Given the description of an element on the screen output the (x, y) to click on. 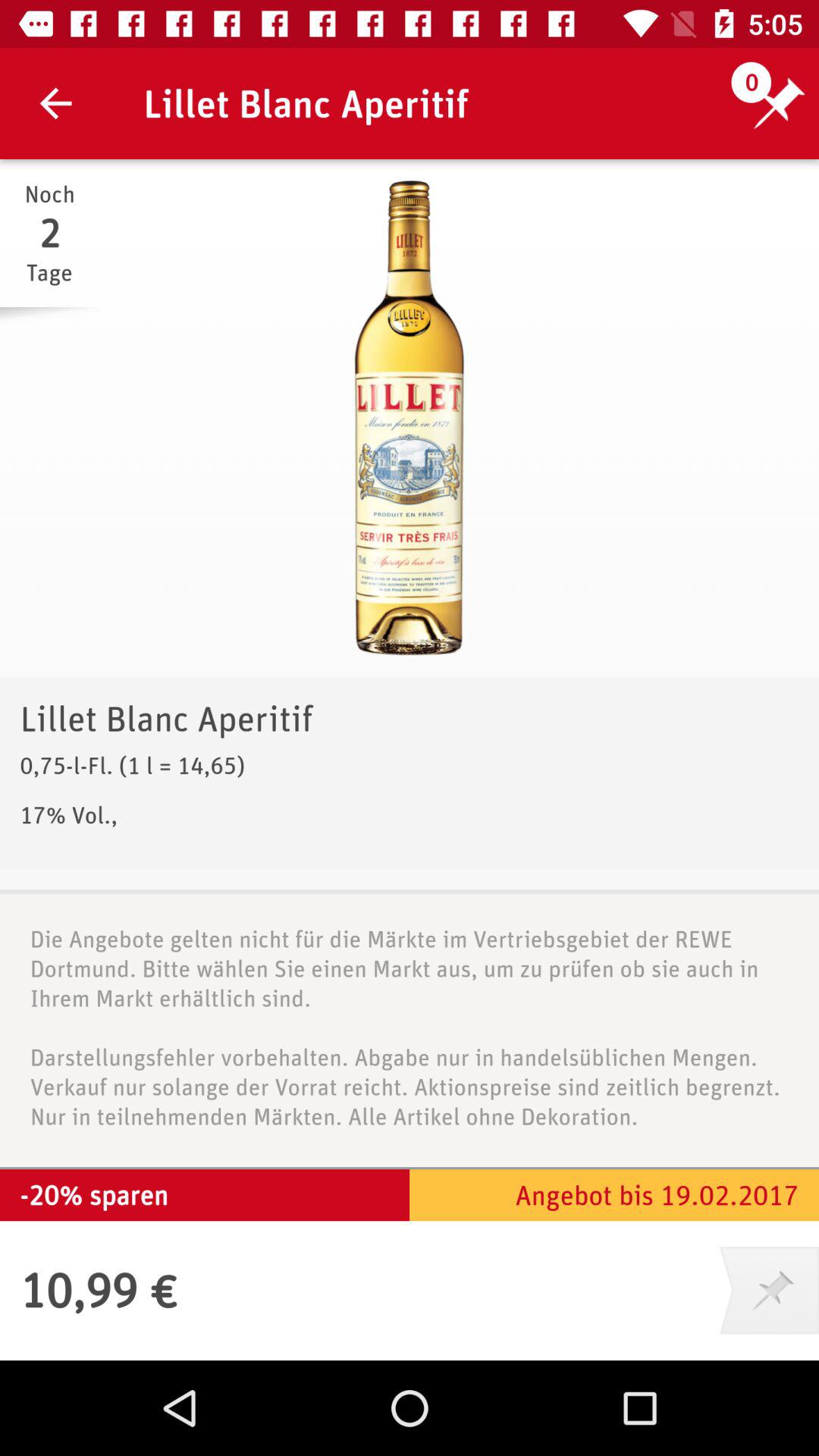
tap icon above lillet blanc aperitif icon (409, 417)
